Given the description of an element on the screen output the (x, y) to click on. 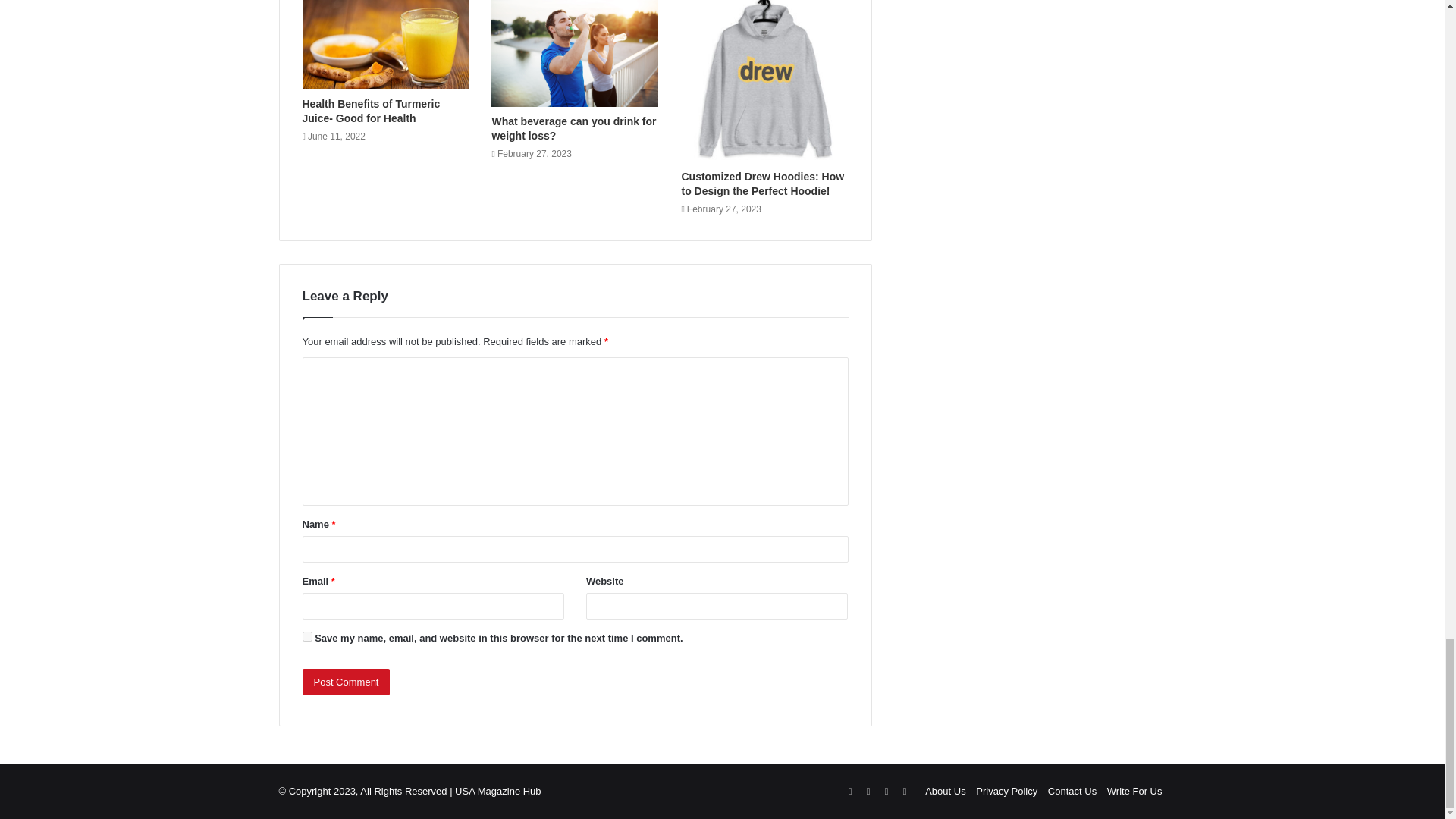
yes (306, 636)
Post Comment (345, 682)
